Given the description of an element on the screen output the (x, y) to click on. 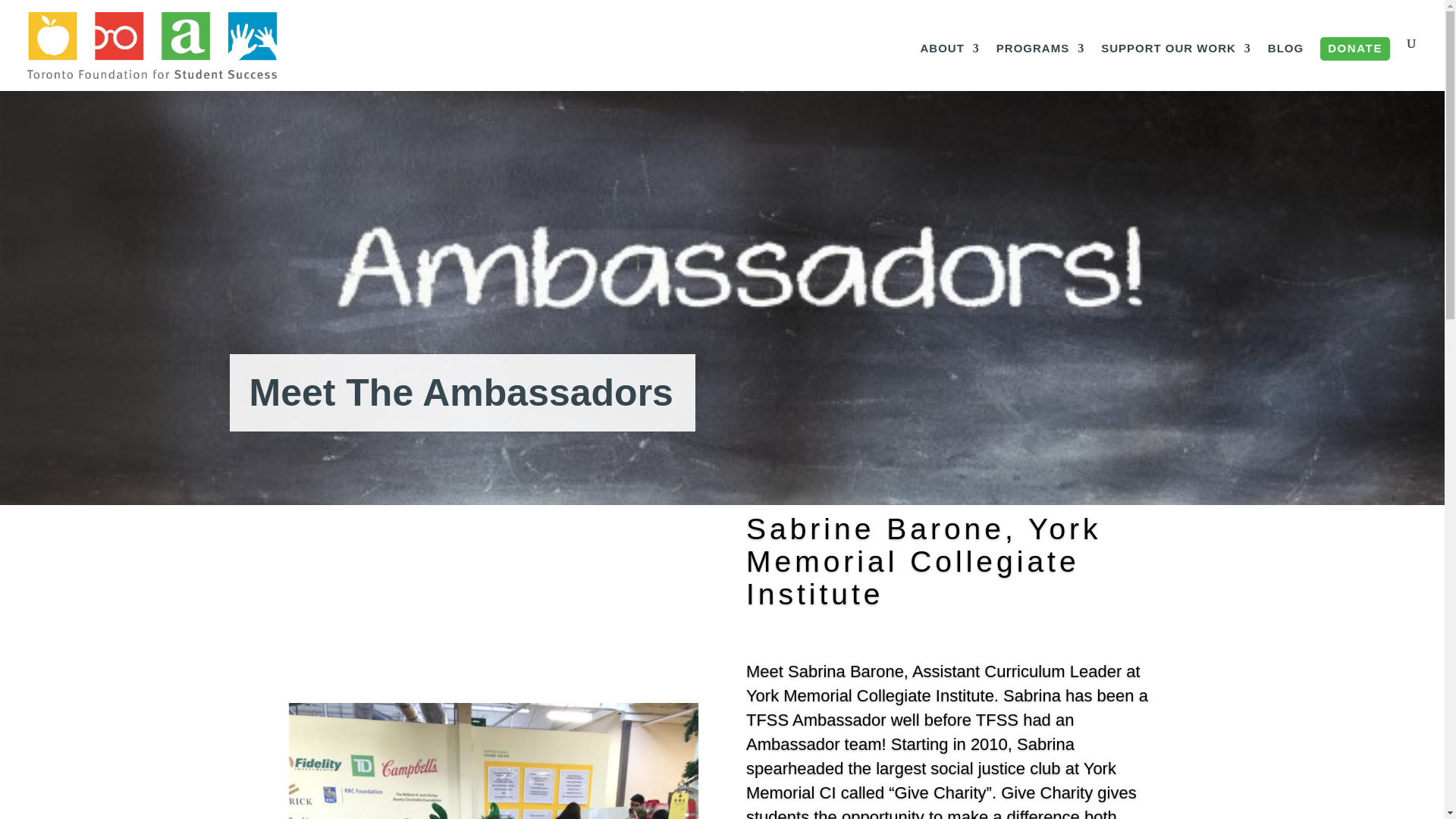
PROGRAMS (1039, 66)
DONATE (1355, 48)
SUPPORT OUR WORK (1175, 66)
ABOUT (949, 66)
